Given the description of an element on the screen output the (x, y) to click on. 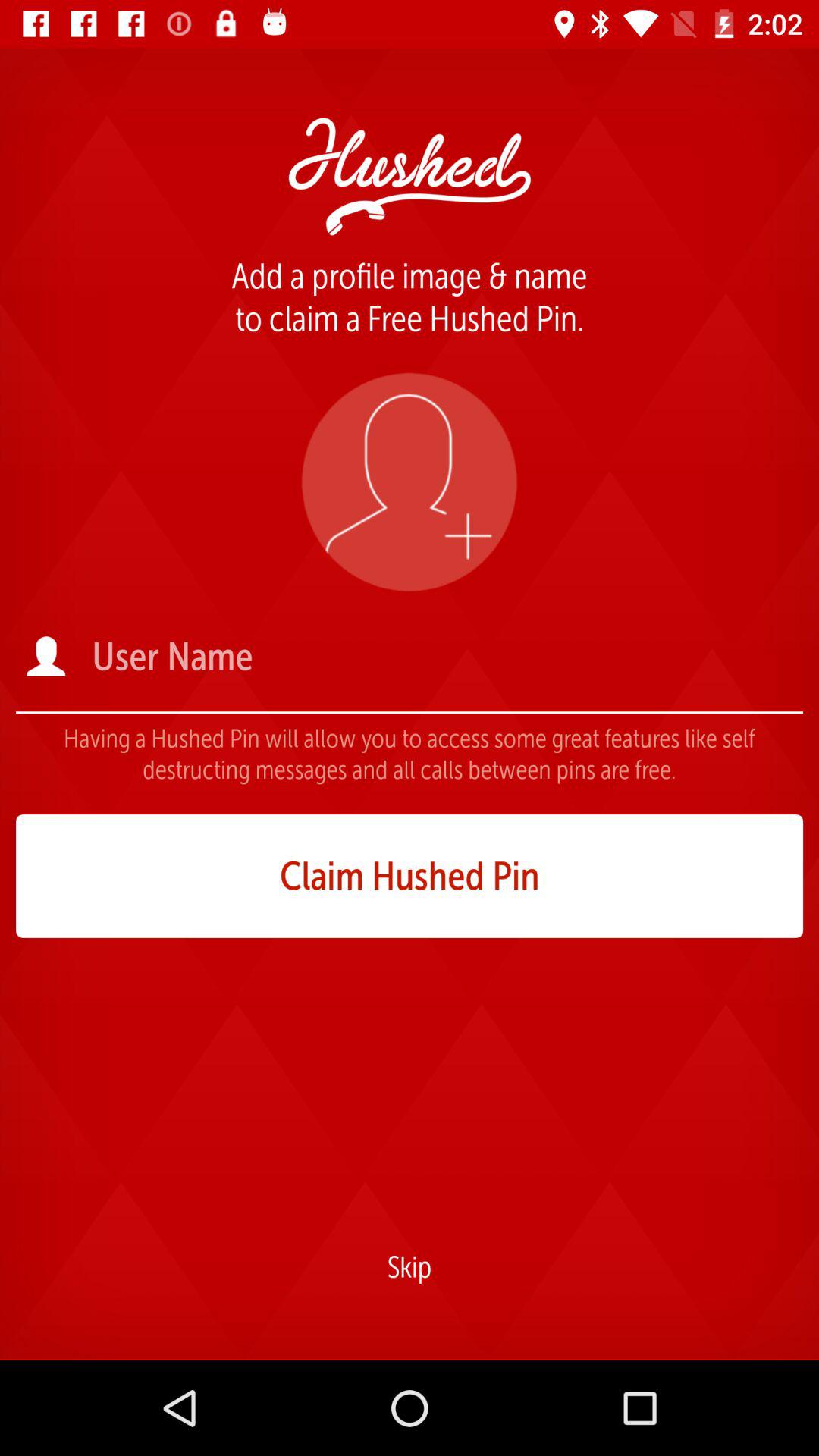
user name field (446, 656)
